Given the description of an element on the screen output the (x, y) to click on. 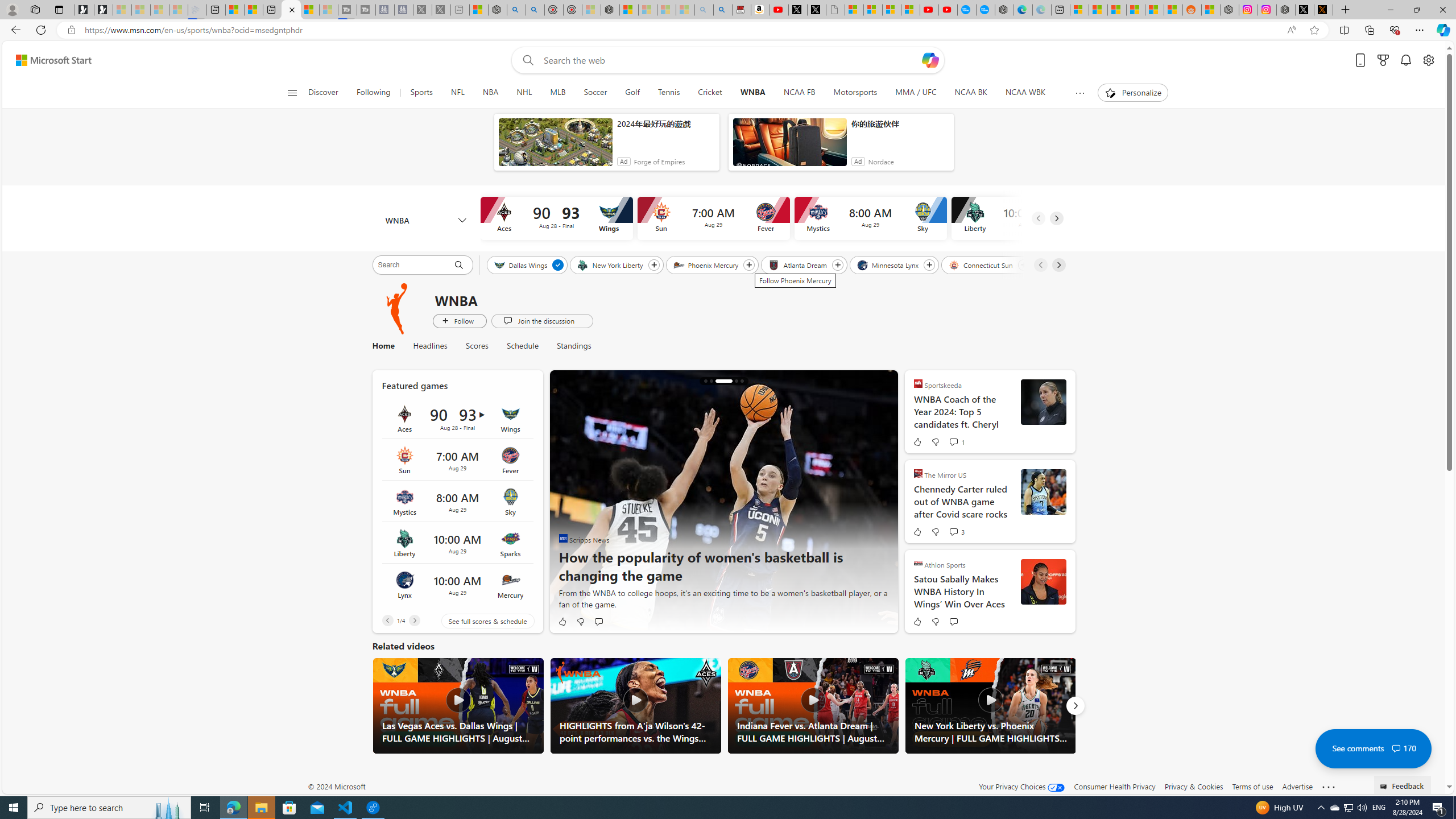
Minnesota Lynx (888, 264)
NCAA BK (970, 92)
Headlines (429, 345)
NCAA BK (969, 92)
Newsletter Sign Up (102, 9)
Tennis (668, 92)
Follow Minnesota Lynx (929, 265)
Privacy & Cookies (1193, 785)
Sports (421, 92)
Soccer (595, 92)
Cricket (709, 92)
